Given the description of an element on the screen output the (x, y) to click on. 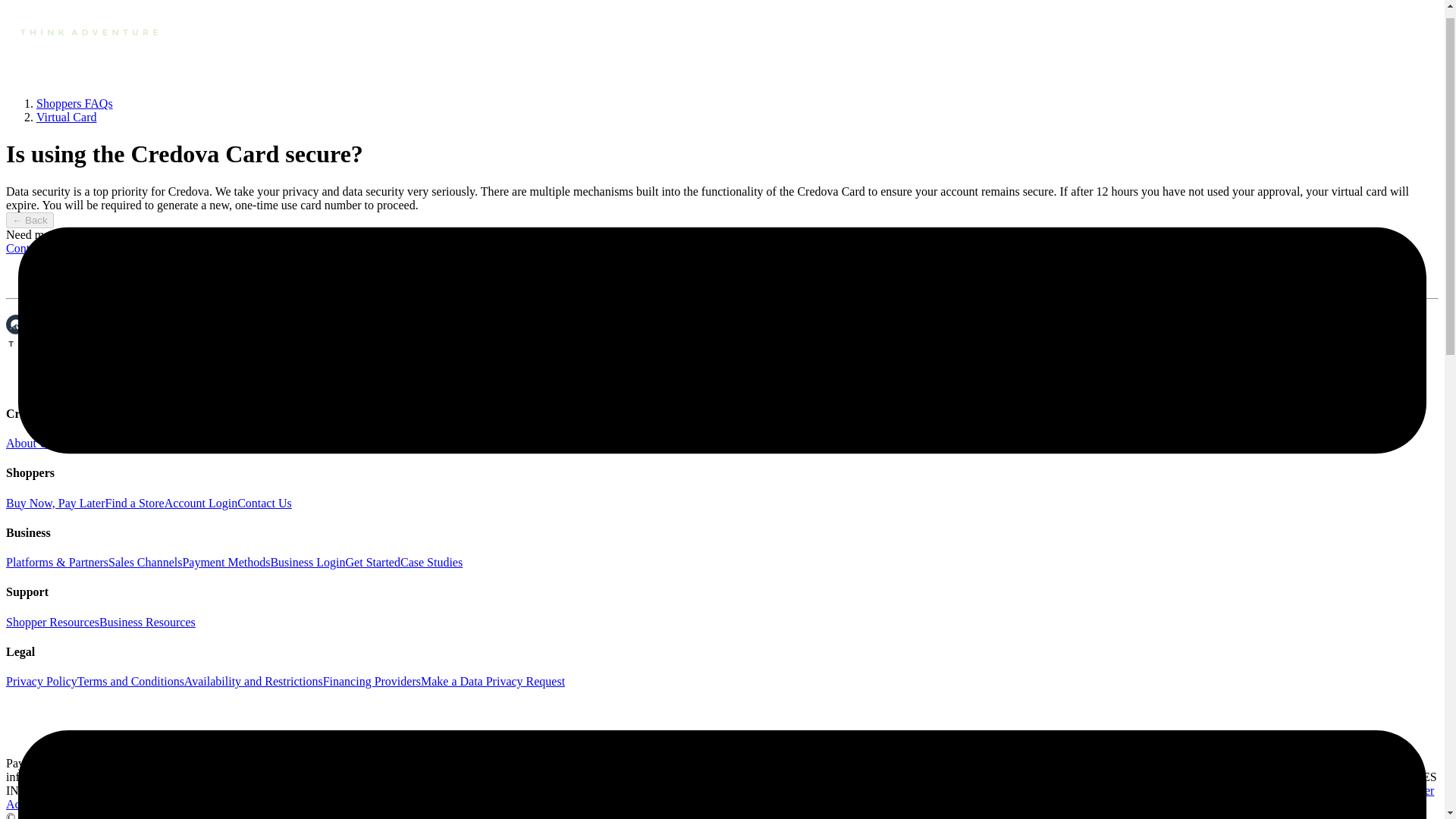
Case Studies (431, 562)
Contact Us (264, 502)
Payment Methods (225, 562)
Buy Now, Pay Later (54, 502)
Get Started (373, 562)
Shoppers FAQs (74, 103)
Privacy Policy (41, 680)
Make a Data Privacy Request (492, 680)
Business Login (307, 562)
Availability and Restrictions (253, 680)
